Given the description of an element on the screen output the (x, y) to click on. 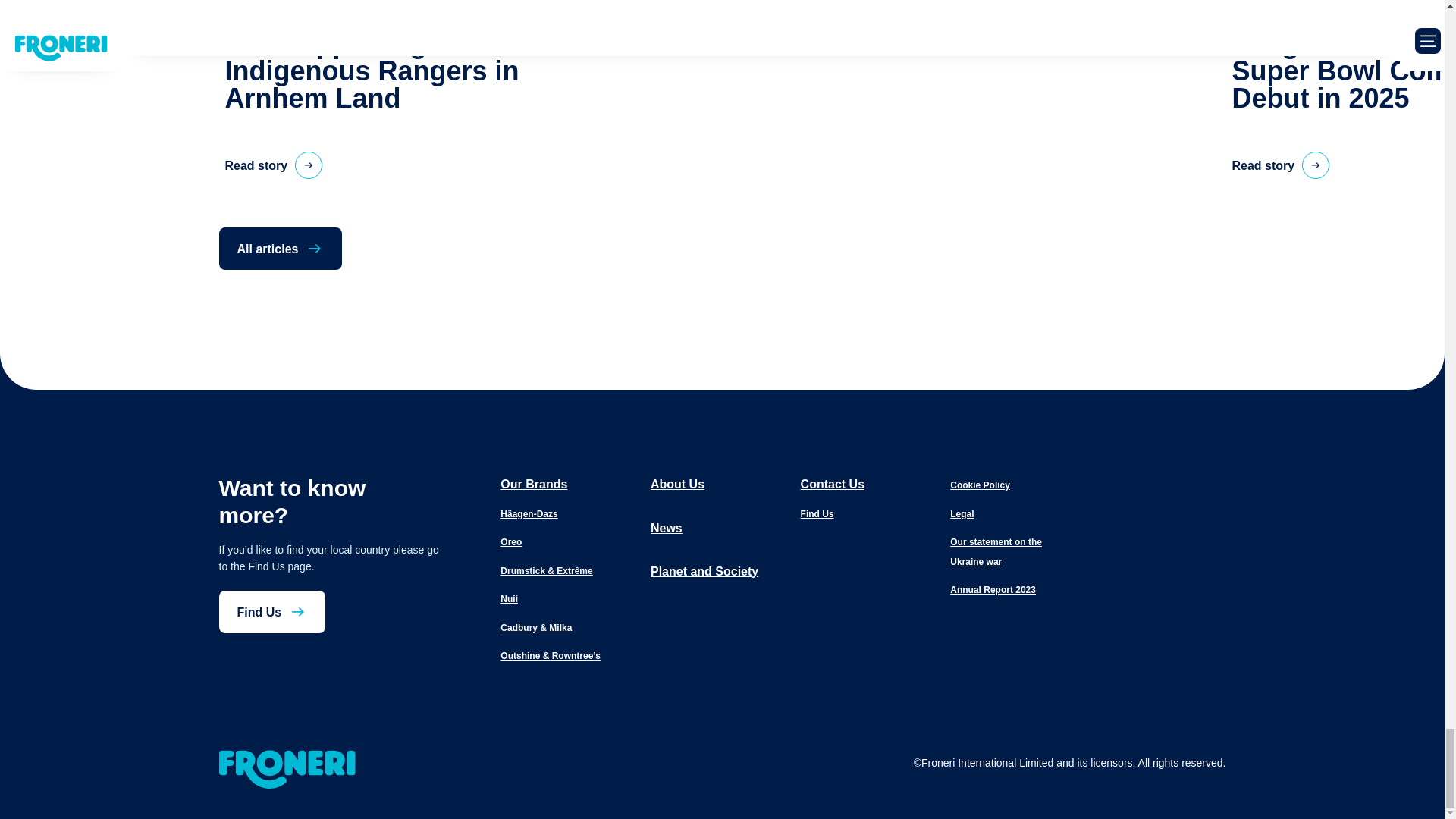
Read story (1280, 165)
Read story (272, 165)
